Given the description of an element on the screen output the (x, y) to click on. 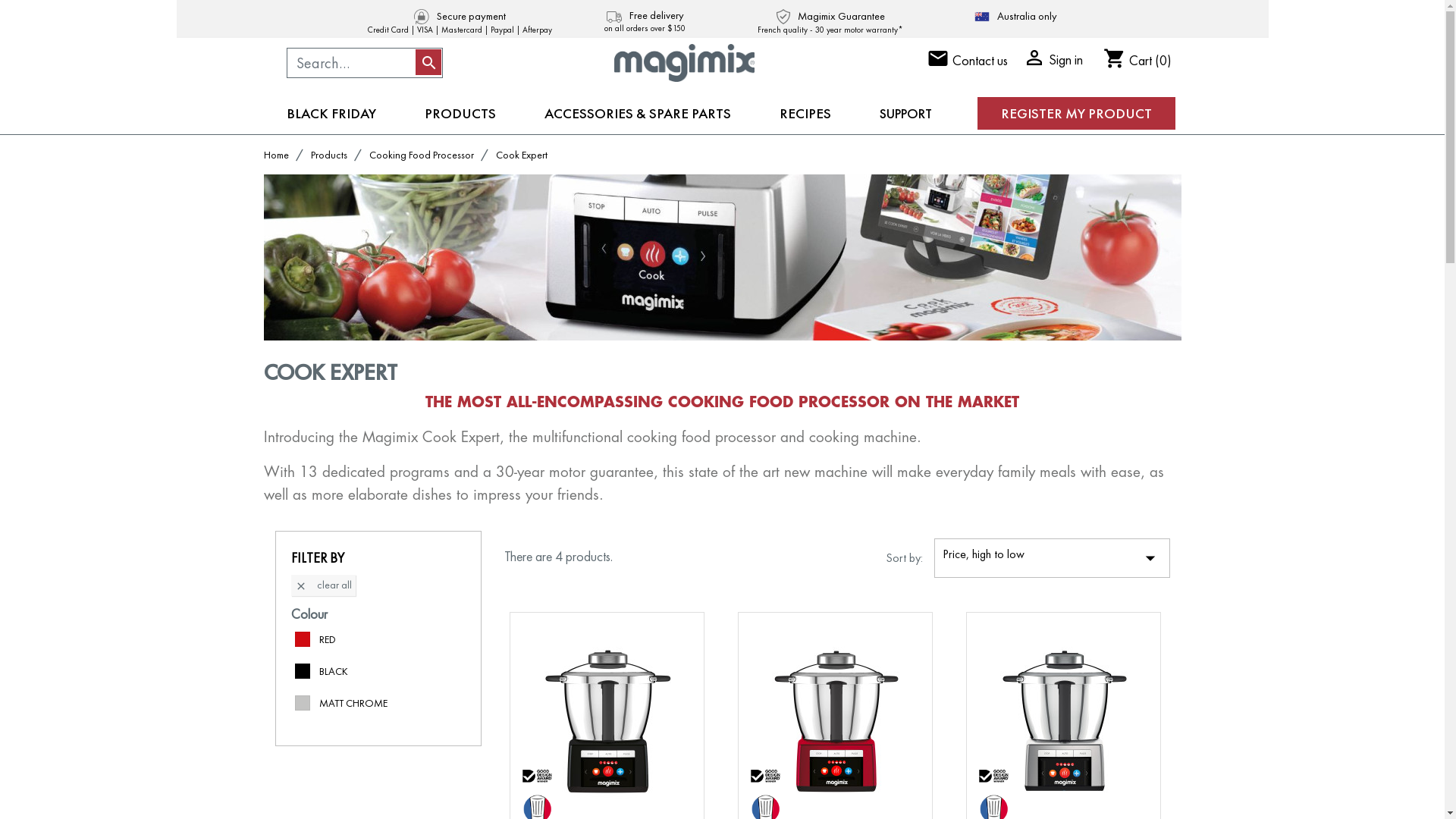
Products Element type: text (330, 154)
email Contact us Element type: text (966, 60)
REGISTER MY PRODUCT Element type: text (1075, 113)
ACCESSORIES & SPARE PARTS Element type: text (637, 112)
RECIPES Element type: text (804, 112)
30 year motor warranty* Element type: text (859, 29)
BLACK Element type: text (332, 670)
on Element type: text (296, 699)
MATT CHROME Element type: text (352, 702)
BLACK FRIDAY Element type: text (330, 112)
on Element type: text (296, 667)
Home Element type: text (277, 154)
Cooking Food Processor Element type: text (422, 154)
RED Element type: text (326, 638)
PRODUCTS Element type: text (459, 112)
Cook Expert Element type: text (521, 154)
on Element type: text (296, 635)
